Given the description of an element on the screen output the (x, y) to click on. 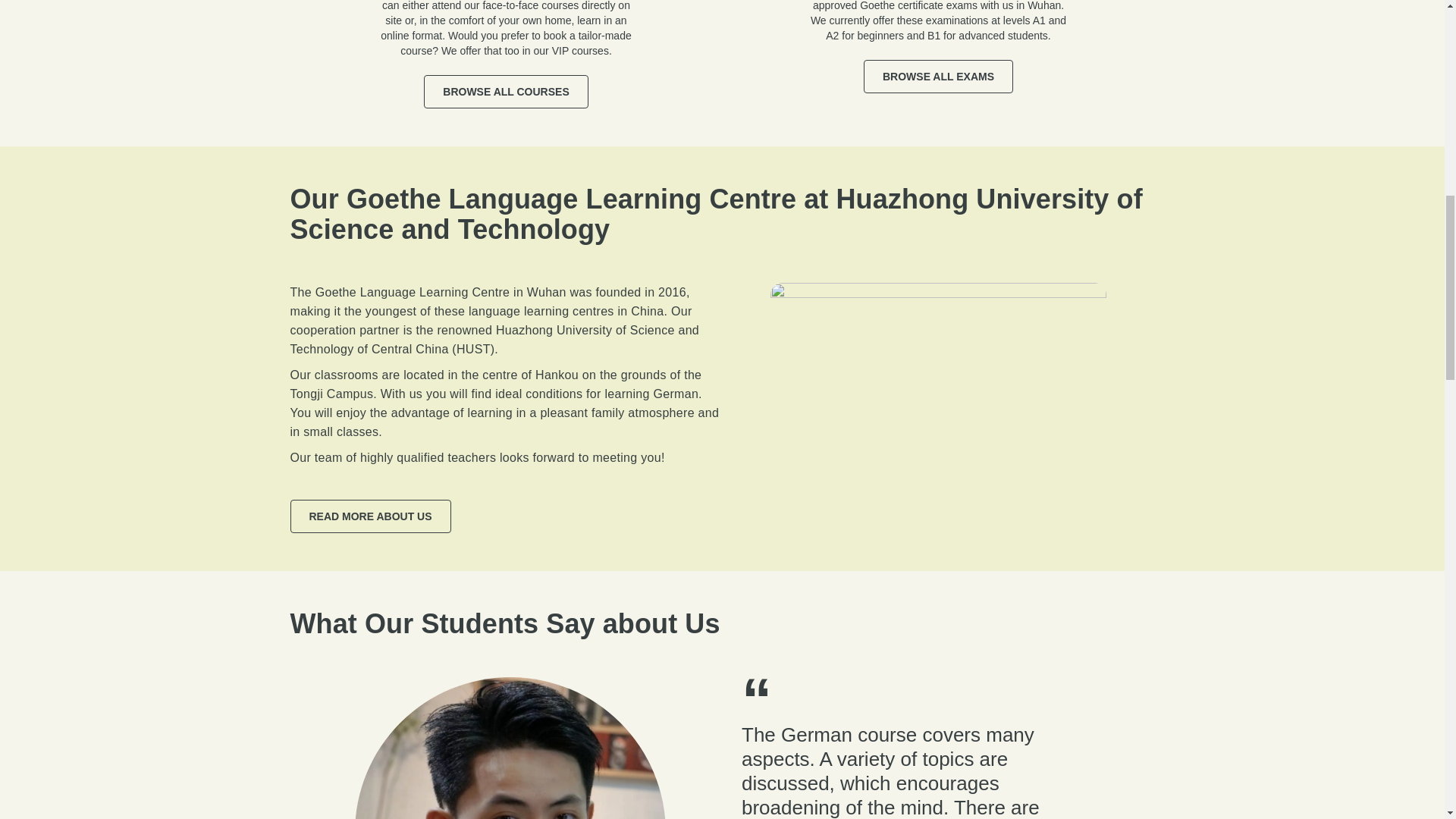
BROWSE ALL COURSES (505, 91)
READ MORE ABOUT US (369, 516)
BROWSE ALL EXAMS (938, 76)
